Given the description of an element on the screen output the (x, y) to click on. 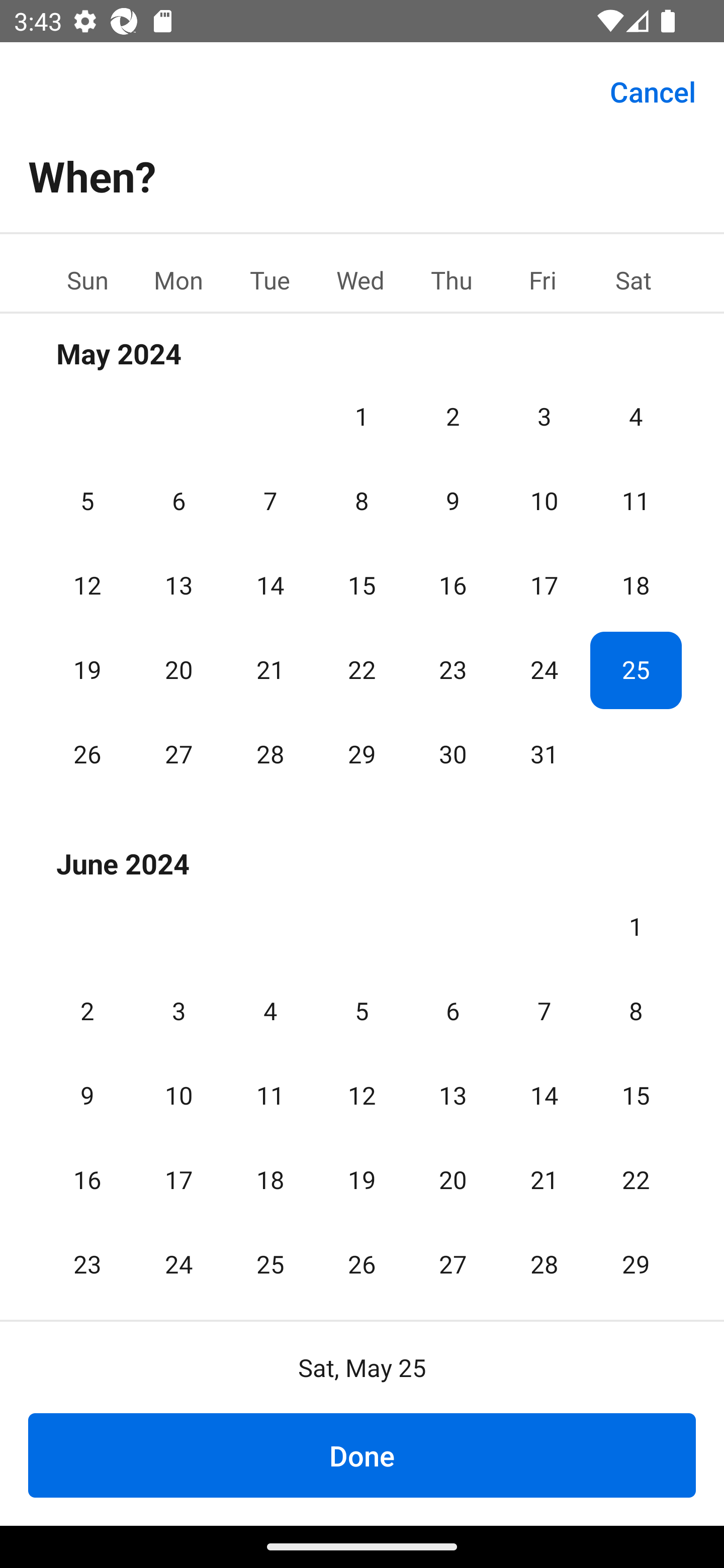
Cancel (652, 90)
Done (361, 1454)
